Given the description of an element on the screen output the (x, y) to click on. 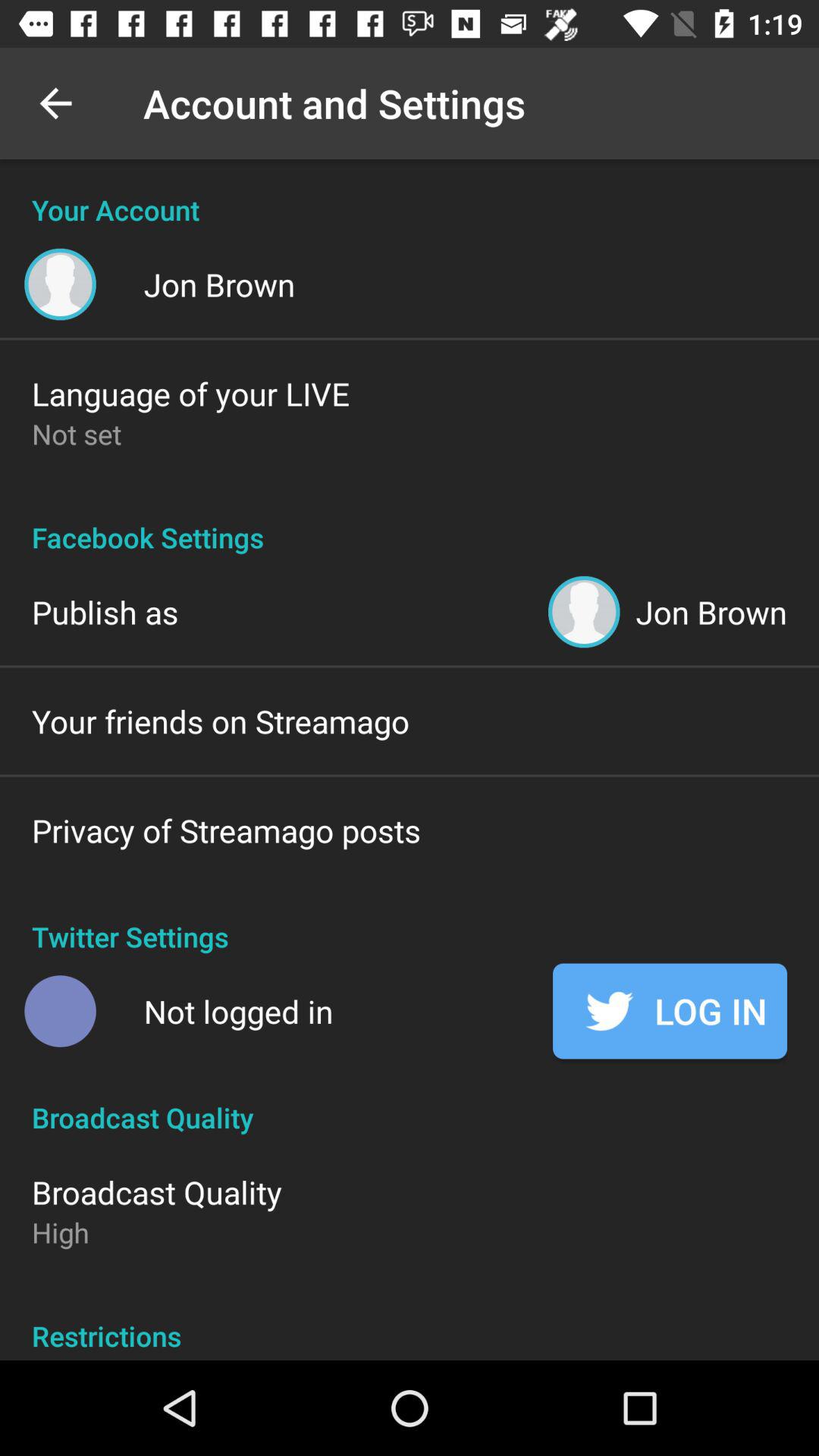
open the log in at the bottom right corner (669, 1011)
